Given the description of an element on the screen output the (x, y) to click on. 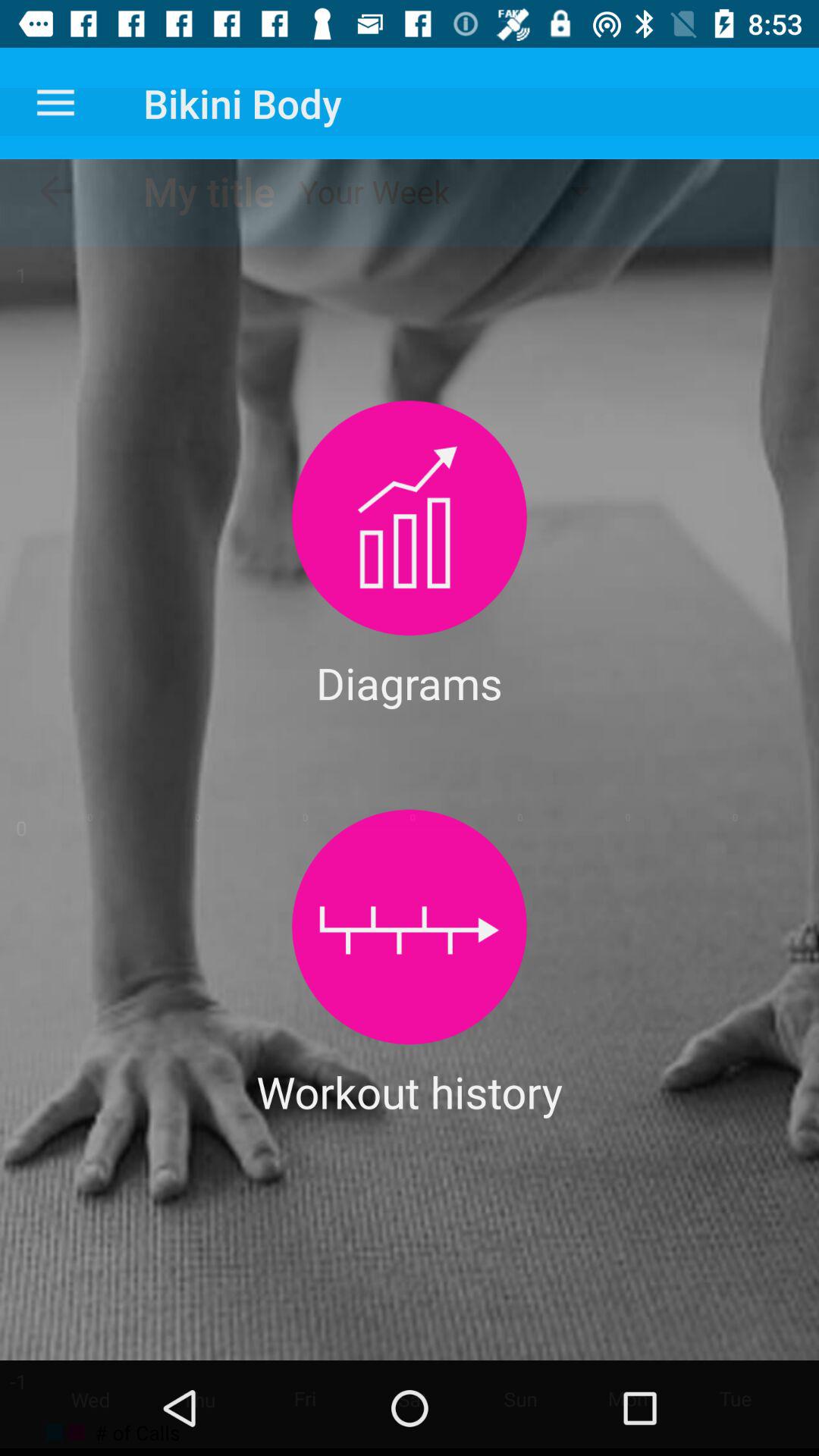
show diagrams (409, 517)
